Given the description of an element on the screen output the (x, y) to click on. 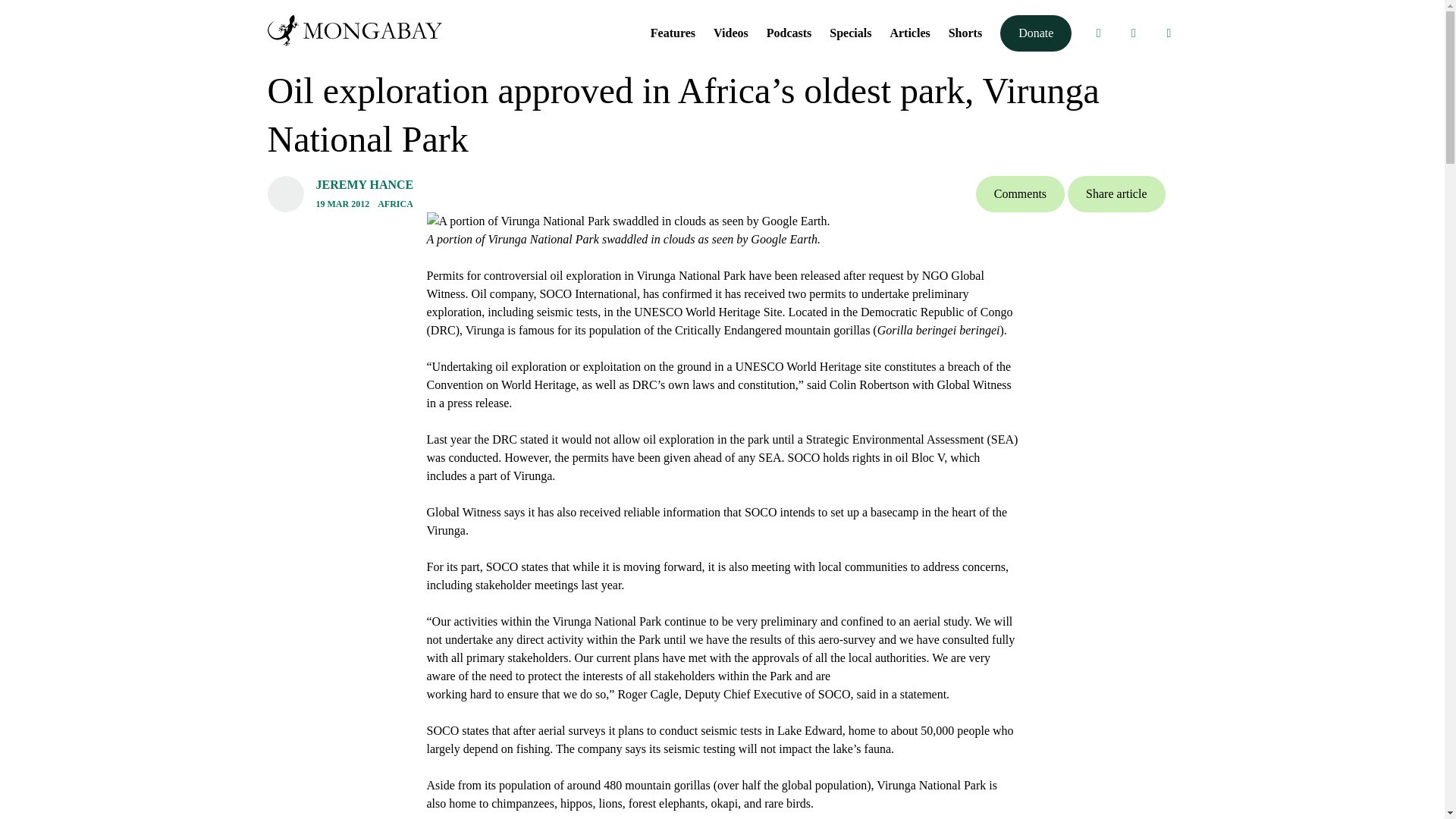
Articles (909, 32)
Shorts (965, 32)
Podcasts (789, 32)
Donate (1035, 33)
Specials (849, 32)
Videos (730, 32)
Features (672, 32)
